Given the description of an element on the screen output the (x, y) to click on. 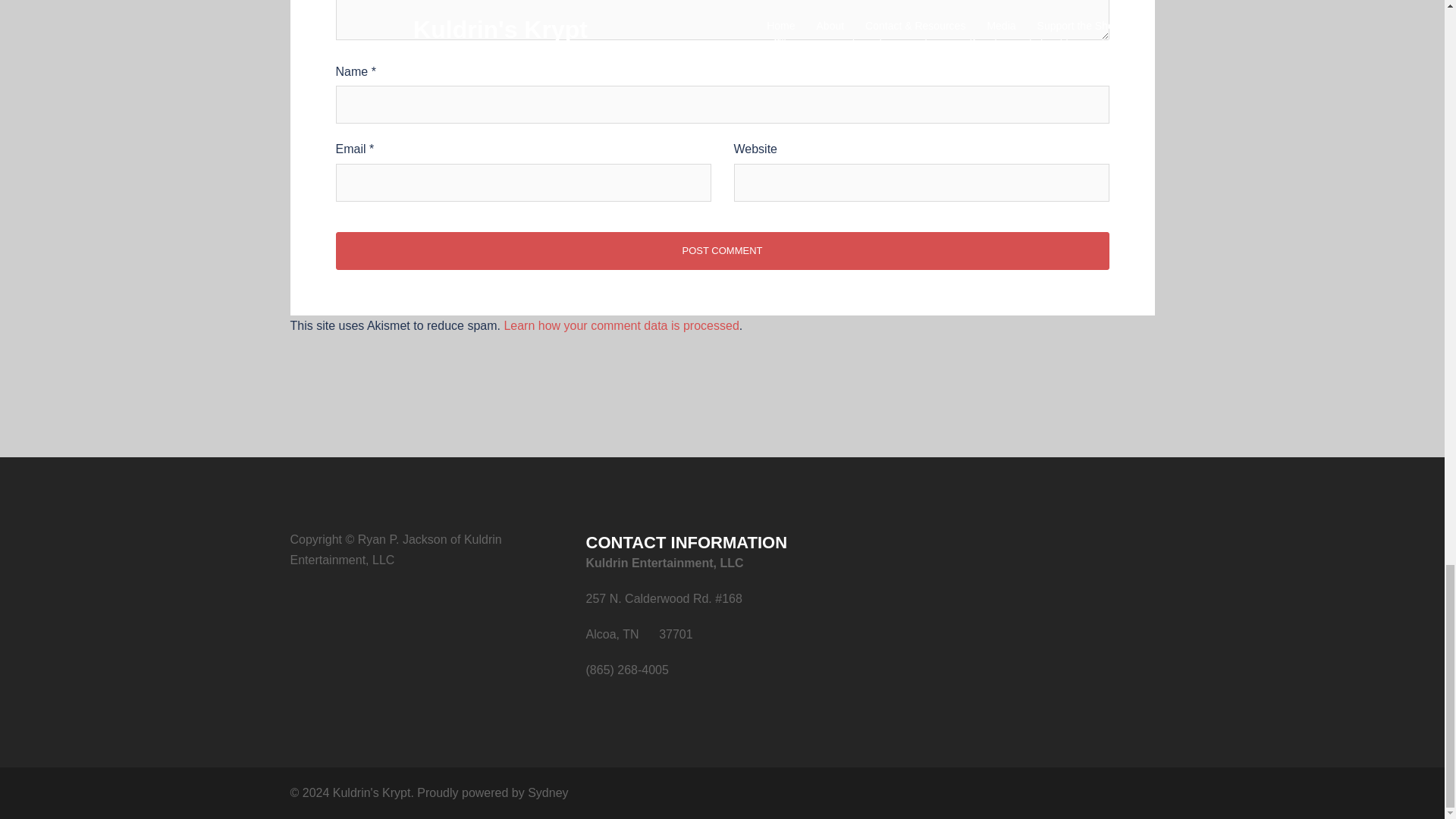
Post Comment (721, 250)
